Given the description of an element on the screen output the (x, y) to click on. 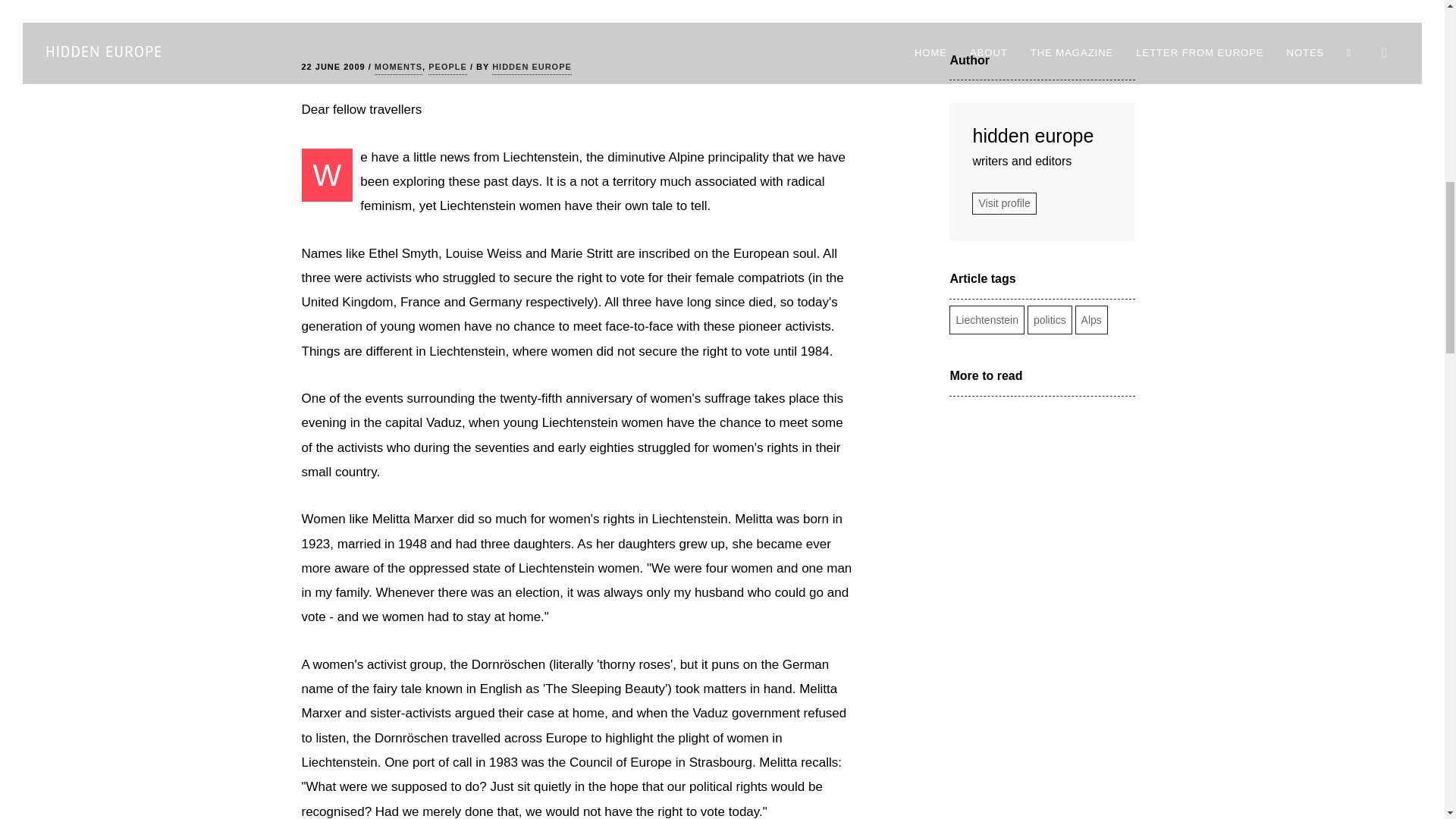
MOMENTS (398, 67)
Alps (1091, 319)
politics (1049, 319)
PEOPLE (447, 67)
Visit profile (1003, 203)
hidden europe (1042, 136)
Liechtenstein (986, 319)
HIDDEN EUROPE (532, 67)
